Given the description of an element on the screen output the (x, y) to click on. 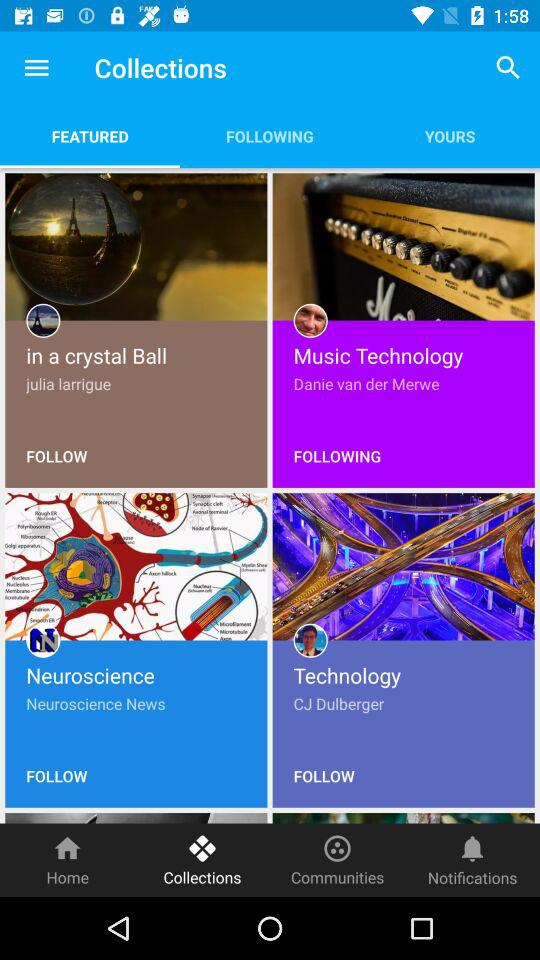
launch item below follow (67, 859)
